Given the description of an element on the screen output the (x, y) to click on. 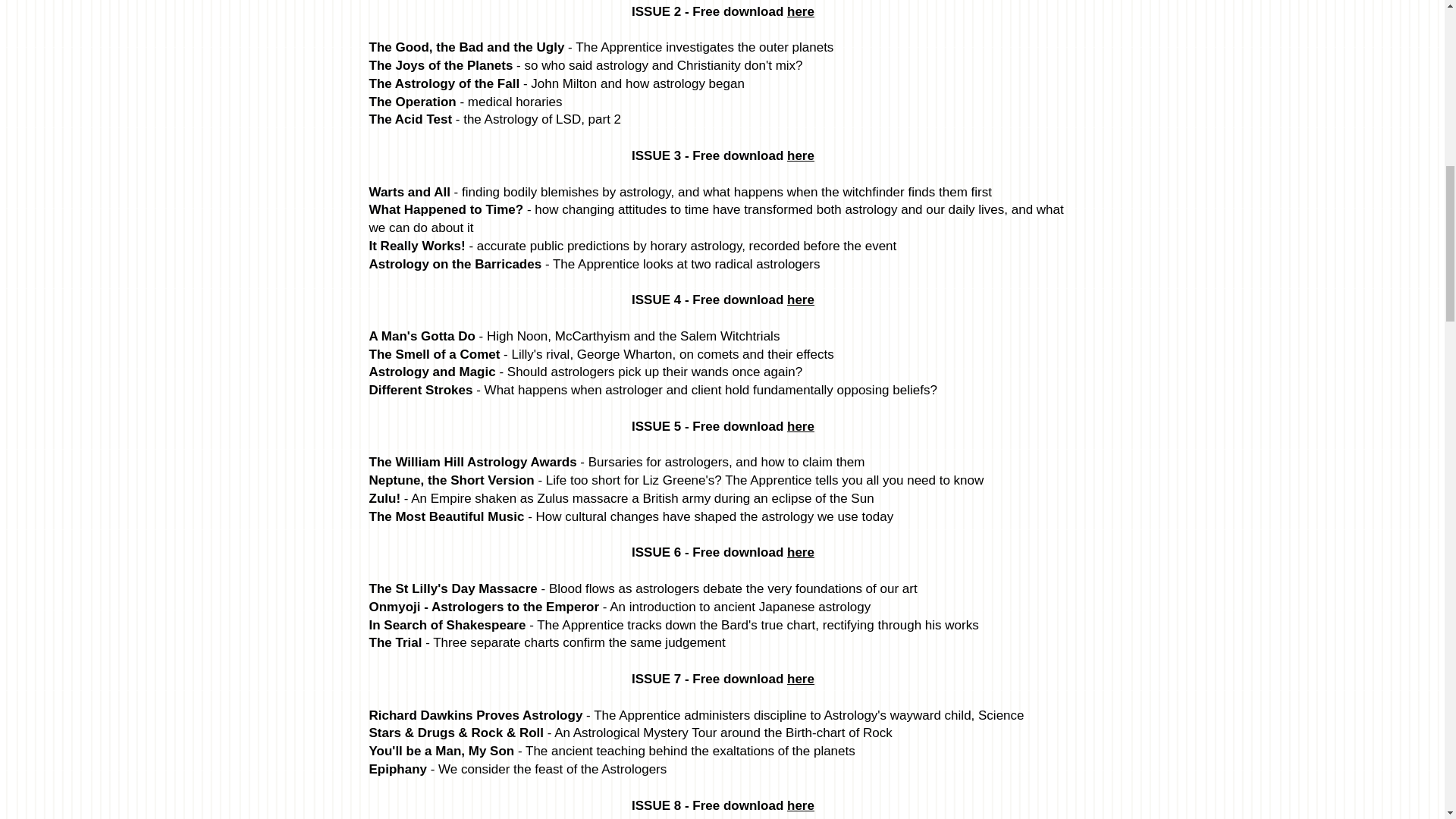
here (800, 11)
here (800, 552)
here (800, 155)
here (800, 805)
here (800, 299)
here (800, 678)
here (800, 426)
